Given the description of an element on the screen output the (x, y) to click on. 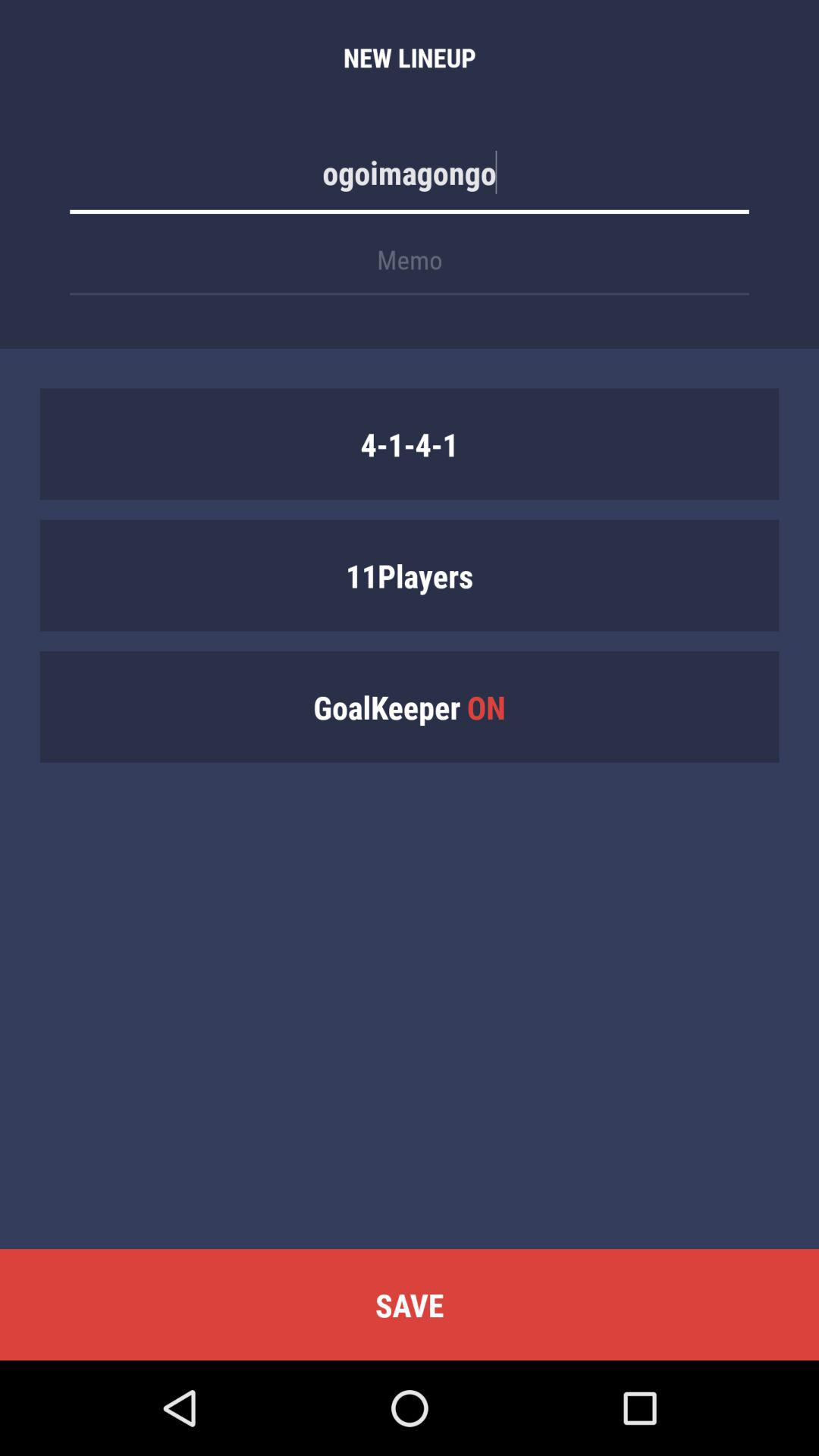
open the 11players icon (409, 575)
